Given the description of an element on the screen output the (x, y) to click on. 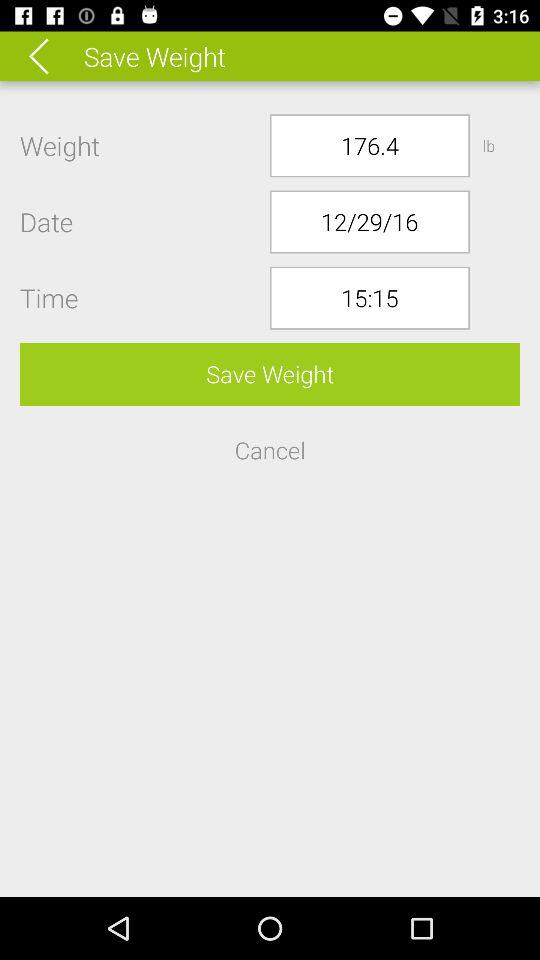
turn on the button below the save weight button (269, 449)
